Given the description of an element on the screen output the (x, y) to click on. 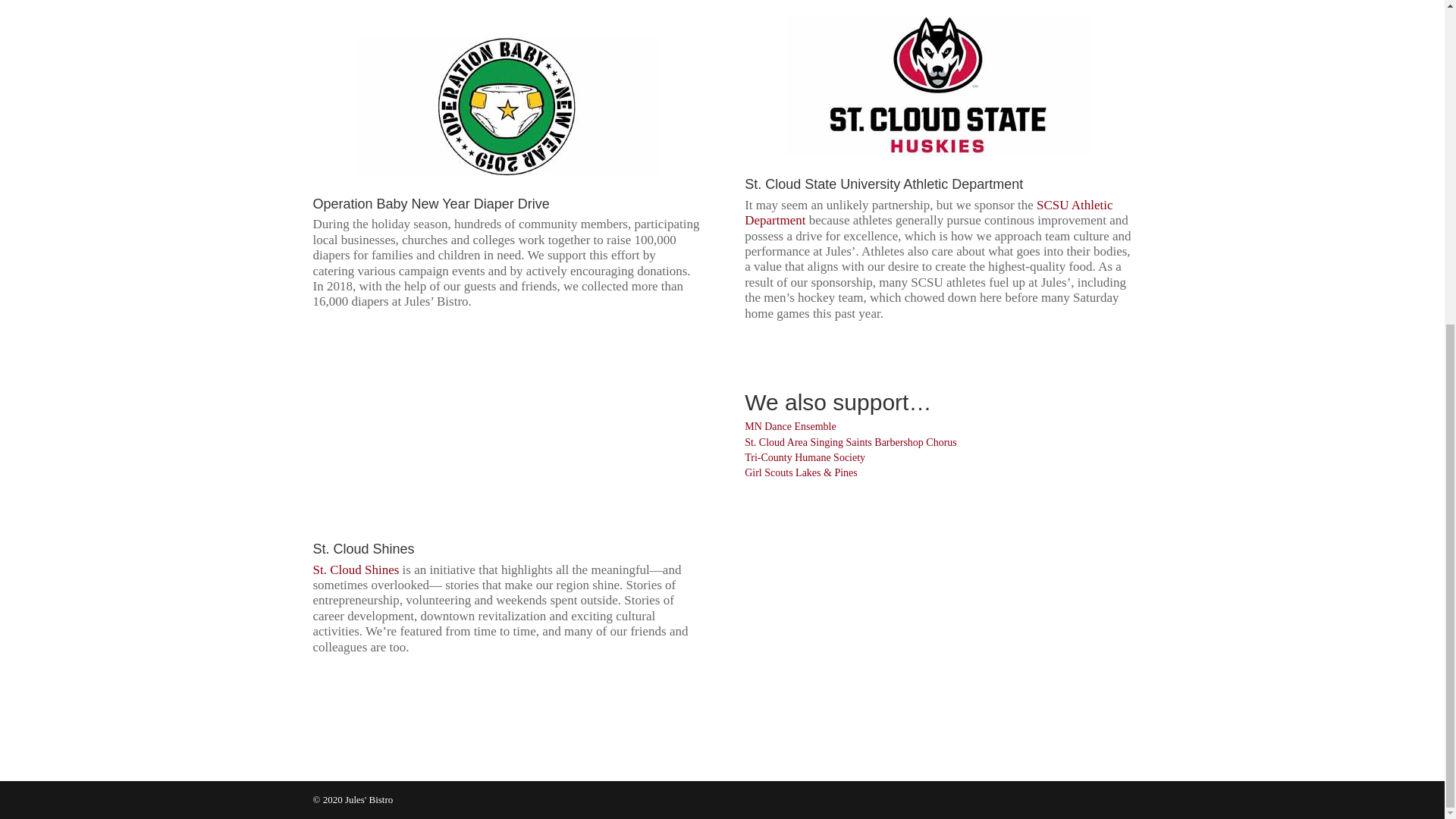
MN Dance Ensemble (789, 426)
St. Cloud State University Athletic Department (883, 183)
St. Cloud Shines (355, 569)
Operation Baby New Year Diaper Drive (430, 203)
St. Cloud Shines (363, 548)
SCSU Athletic Department (928, 212)
